Given the description of an element on the screen output the (x, y) to click on. 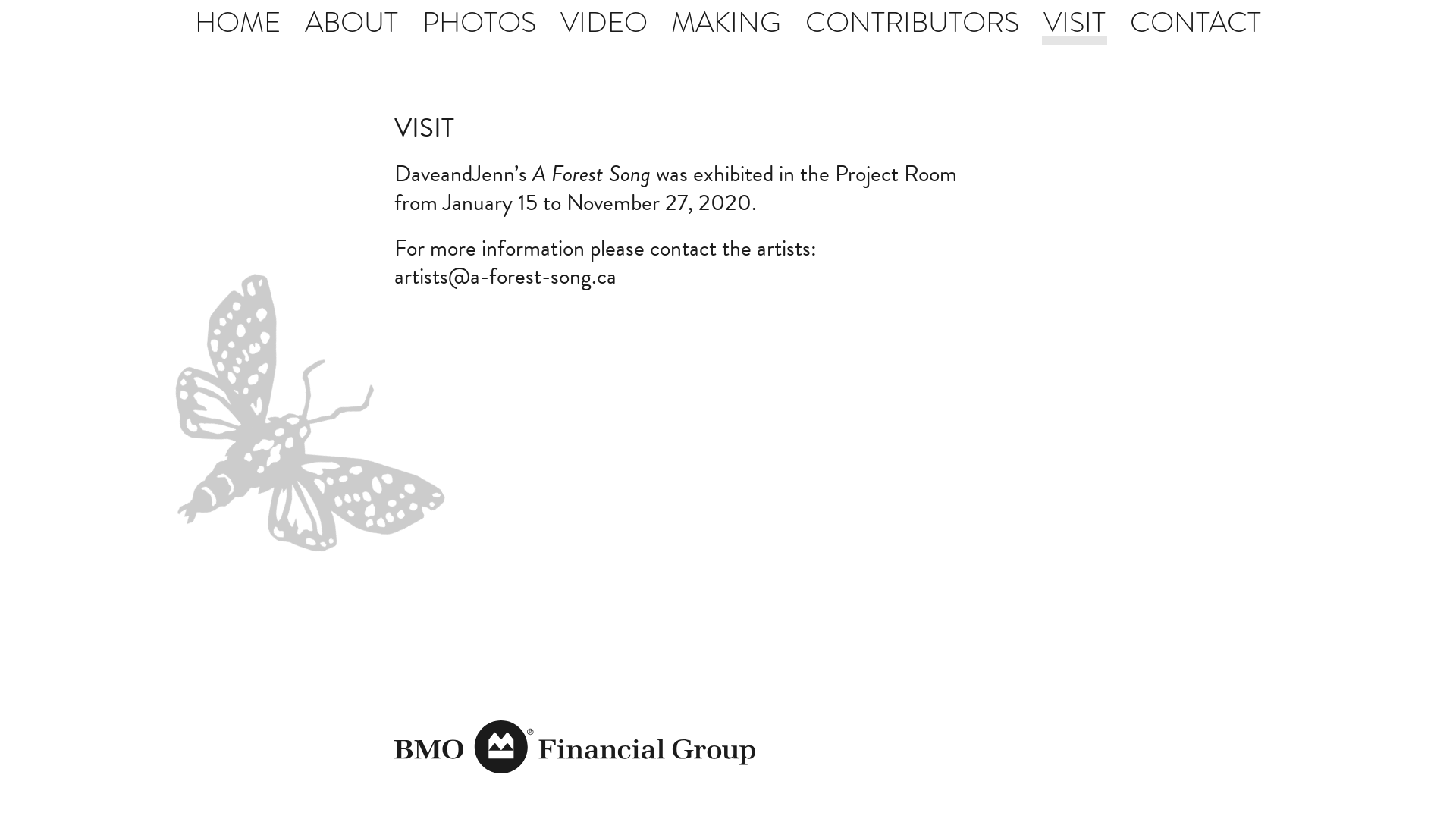
PHOTOS Element type: text (478, 22)
VISIT Element type: text (1074, 22)
CONTRIBUTORS Element type: text (911, 22)
MAKING Element type: text (726, 22)
artists@a-forest-song.ca Element type: text (505, 276)
ABOUT Element type: text (351, 22)
HOME Element type: text (237, 22)
CONTACT Element type: text (1195, 22)
VIDEO Element type: text (603, 22)
